Given the description of an element on the screen output the (x, y) to click on. 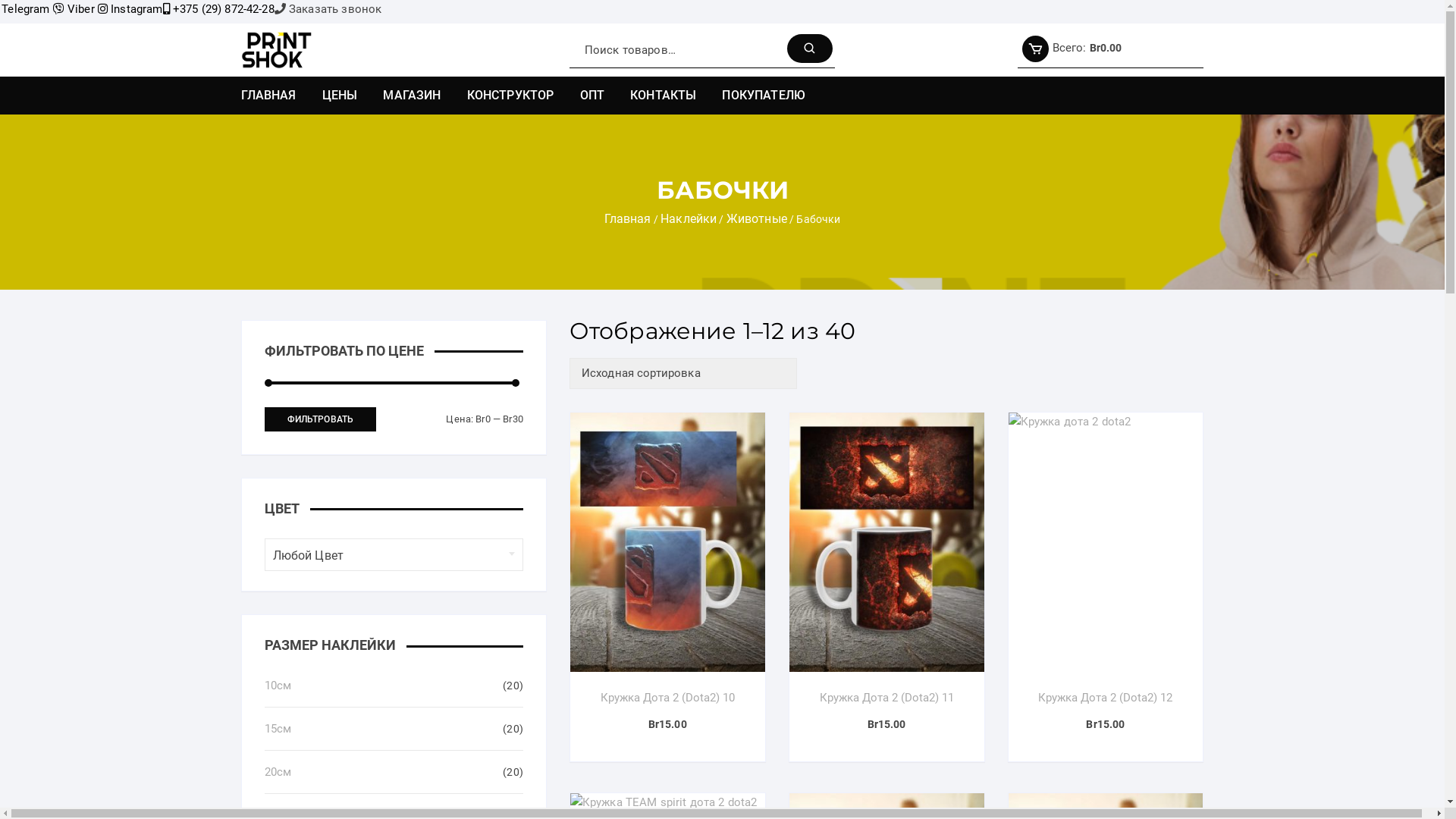
Viber Element type: text (73, 8)
+375 (29) 872-42-28 Element type: text (218, 8)
Instagram Element type: text (130, 8)
